Given the description of an element on the screen output the (x, y) to click on. 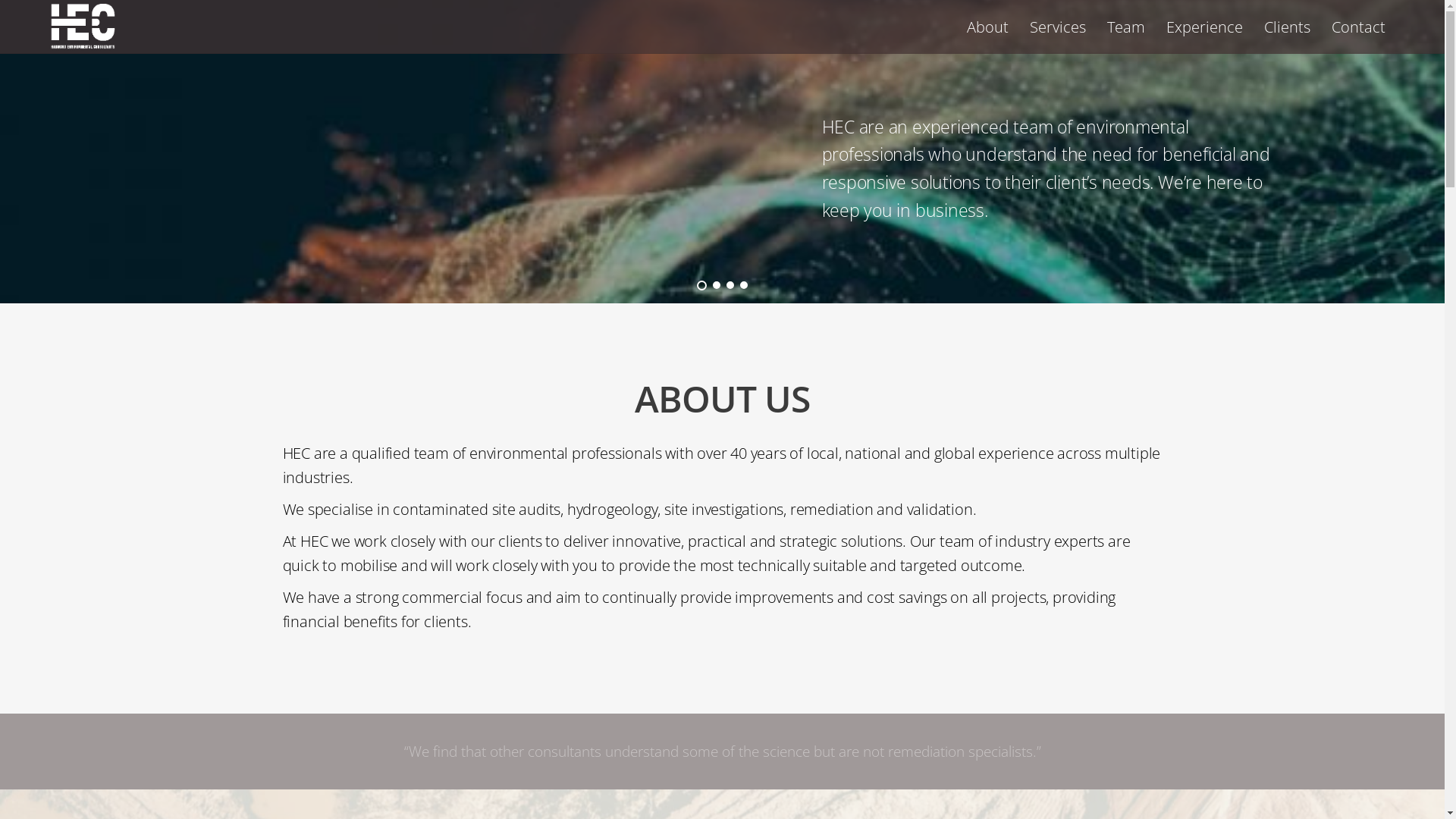
Team Element type: text (1126, 27)
HEC-white-logo Element type: hover (82, 26)
Clients Element type: text (1287, 27)
Harwood Environmental Consultants Element type: hover (82, 40)
Services Element type: text (1057, 27)
Experience Element type: text (1204, 27)
Contact Element type: text (1358, 27)
About Element type: text (987, 27)
